Given the description of an element on the screen output the (x, y) to click on. 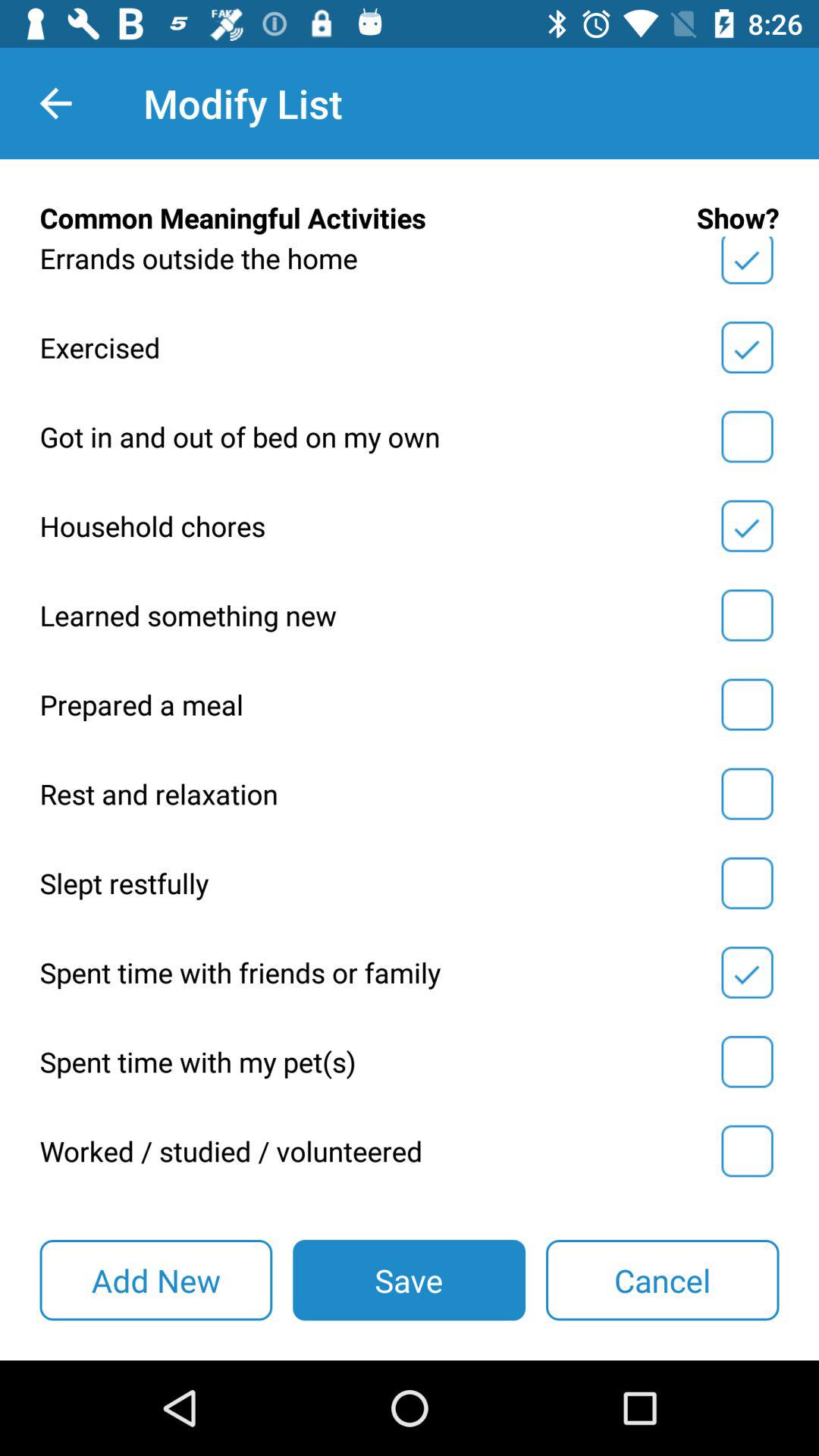
select and save (747, 525)
